Given the description of an element on the screen output the (x, y) to click on. 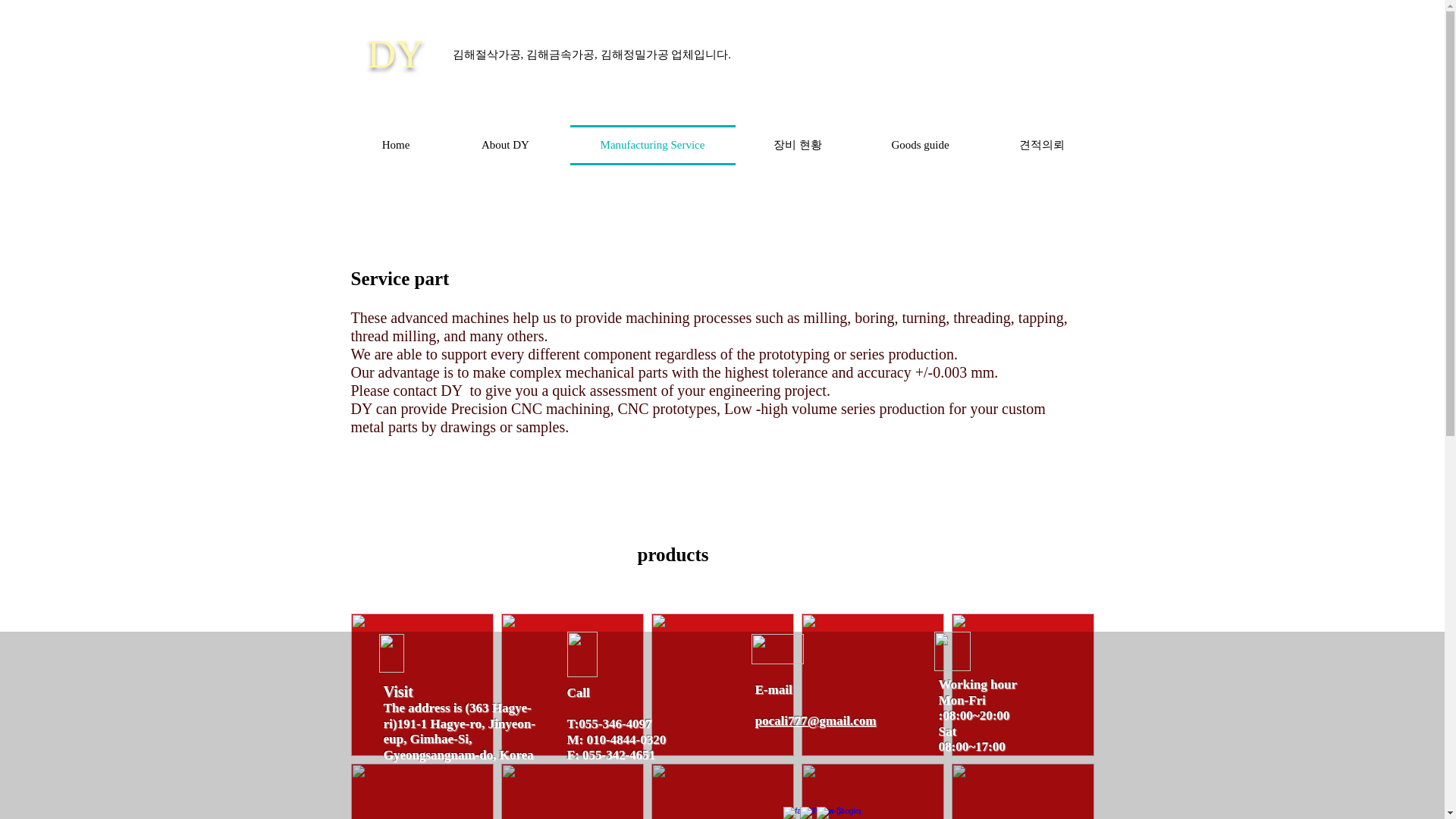
Manufacturing Service (652, 145)
Home (397, 145)
Goods guide (920, 145)
E-mail (773, 689)
About DY (505, 145)
